Given the description of an element on the screen output the (x, y) to click on. 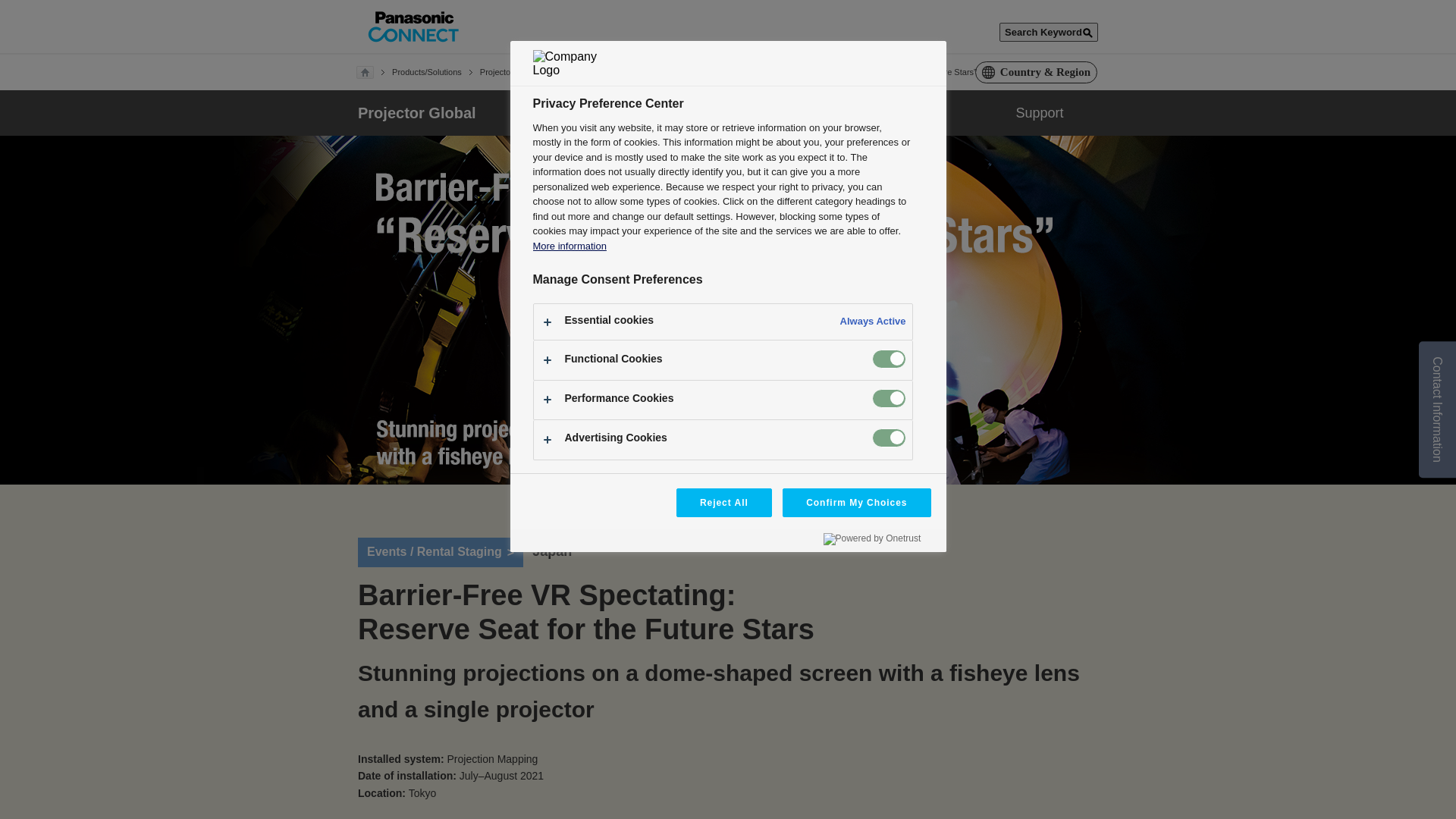
Site Search (1048, 31)
Projector Global (417, 112)
Reject All Confirm My Choices (726, 512)
Powered by OneTrust Opens in a new Tab (872, 539)
Solutions (666, 112)
Case Studies (790, 112)
Download (915, 112)
Case Studies (692, 71)
Products (541, 112)
